Given the description of an element on the screen output the (x, y) to click on. 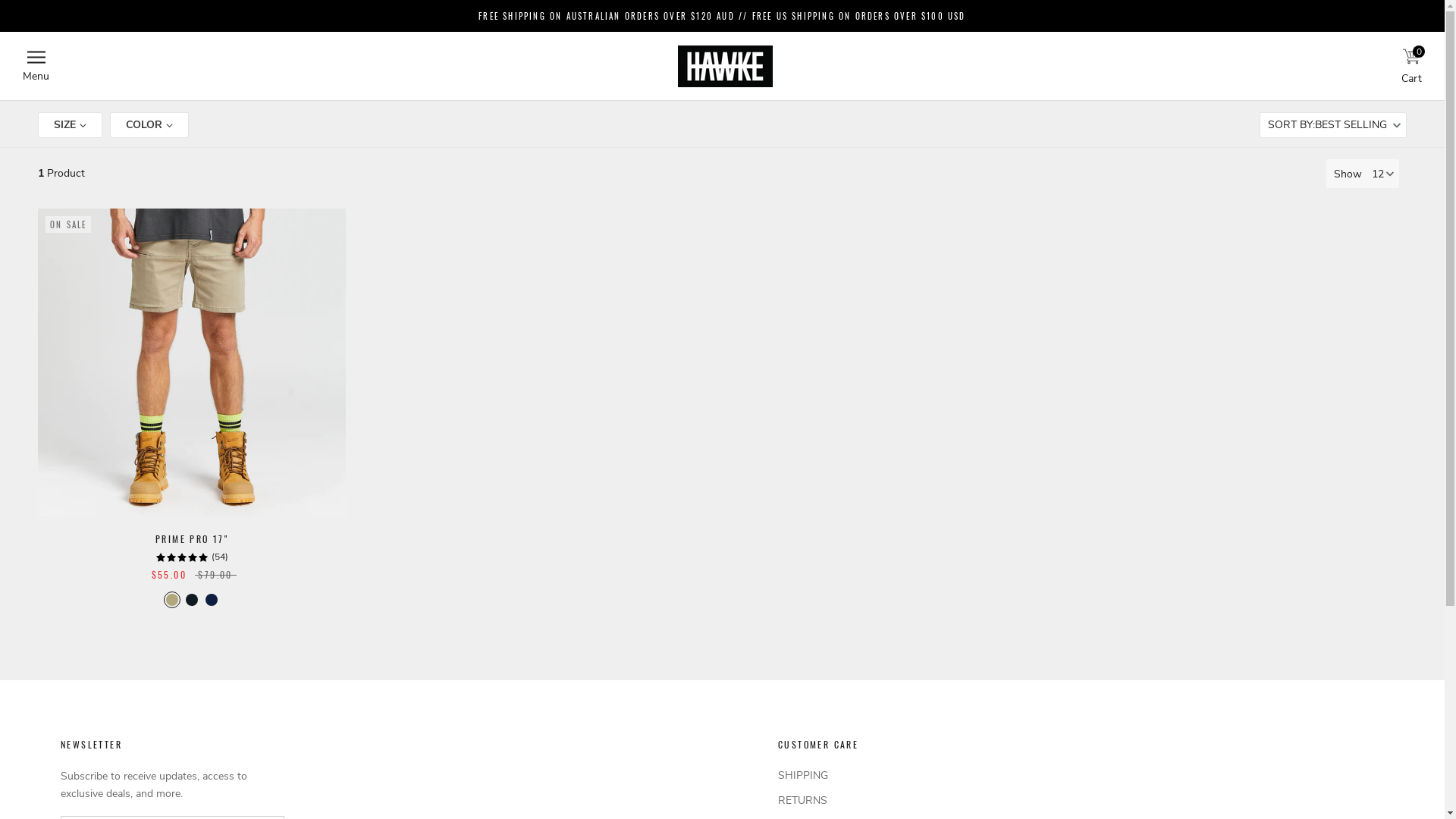
Menu Element type: text (35, 65)
PRIME PRO 17" Element type: text (191, 538)
RETURNS Element type: text (834, 800)
BEIGE Element type: hover (172, 599)
NAVY Element type: hover (211, 599)
SHIPPING Element type: text (834, 775)
BLACK Element type: hover (191, 599)
